Given the description of an element on the screen output the (x, y) to click on. 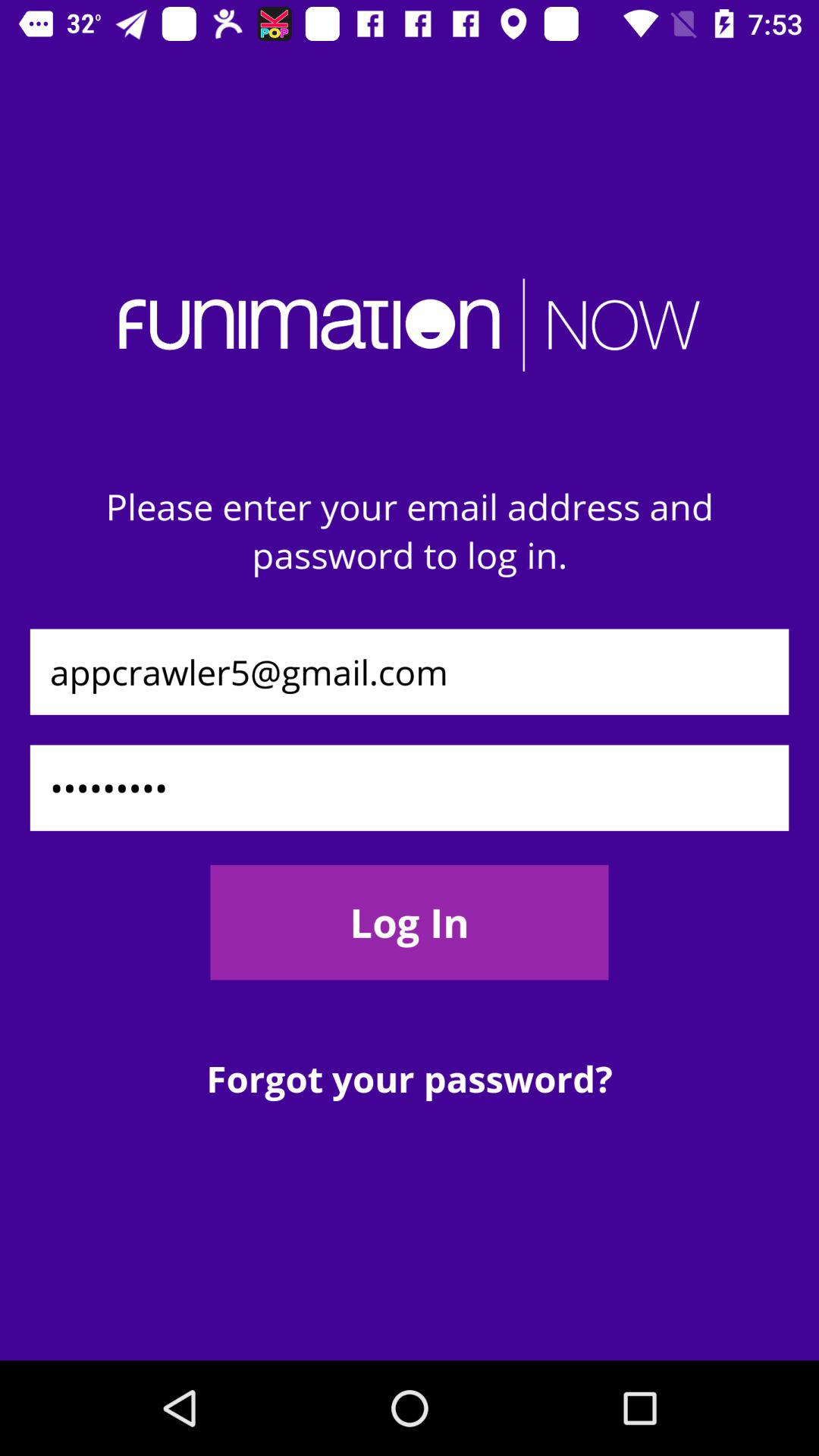
turn off appcrawler5@gmail.com item (409, 671)
